Given the description of an element on the screen output the (x, y) to click on. 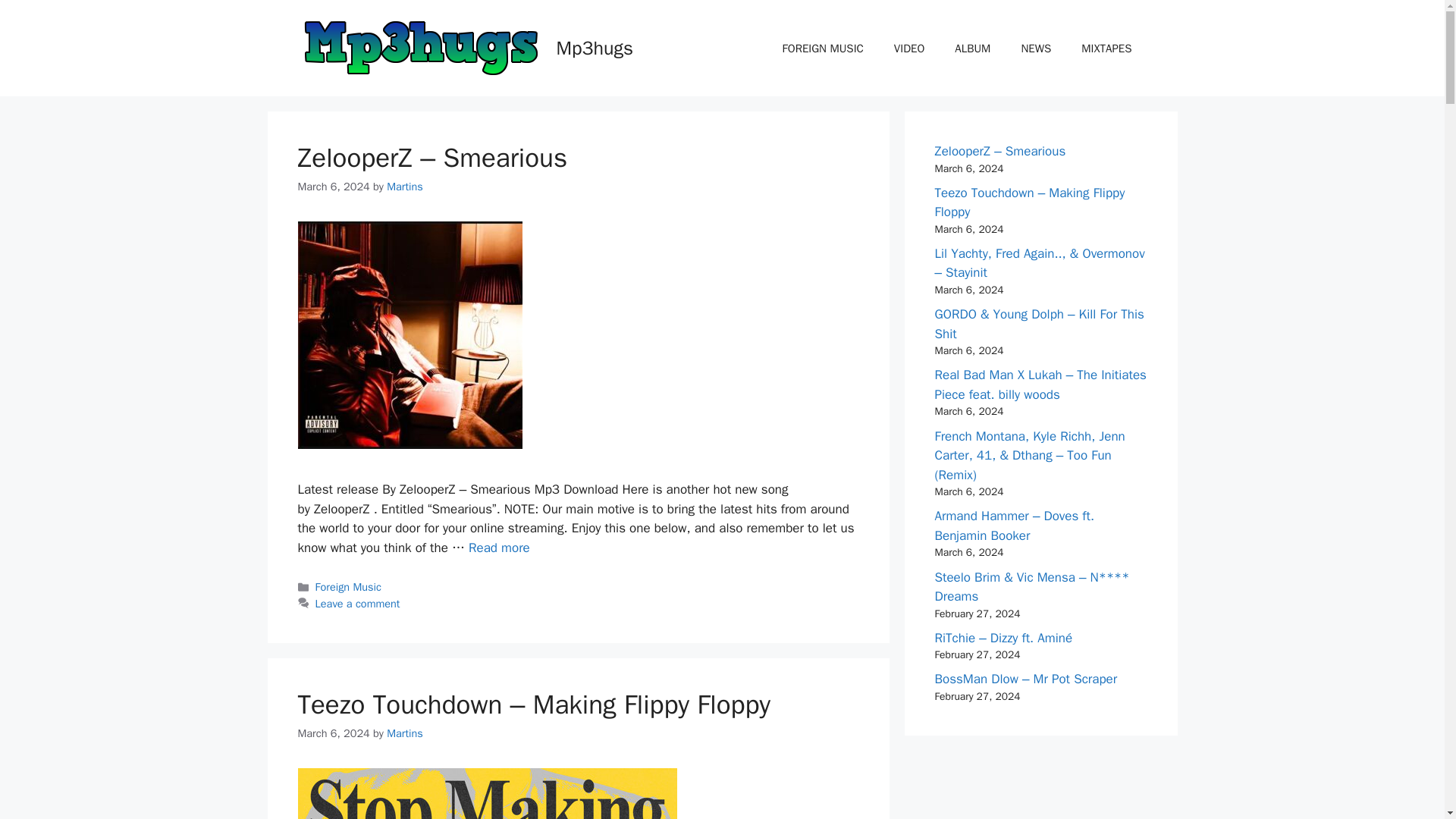
Martins (405, 733)
Foreign Music (348, 586)
NEWS (1035, 48)
Martins (405, 186)
VIDEO (909, 48)
Read more (498, 547)
Leave a comment (357, 603)
View all posts by Martins (405, 733)
FOREIGN MUSIC (823, 48)
Mp3hugs (594, 47)
View all posts by Martins (405, 186)
MIXTAPES (1106, 48)
ALBUM (972, 48)
